Given the description of an element on the screen output the (x, y) to click on. 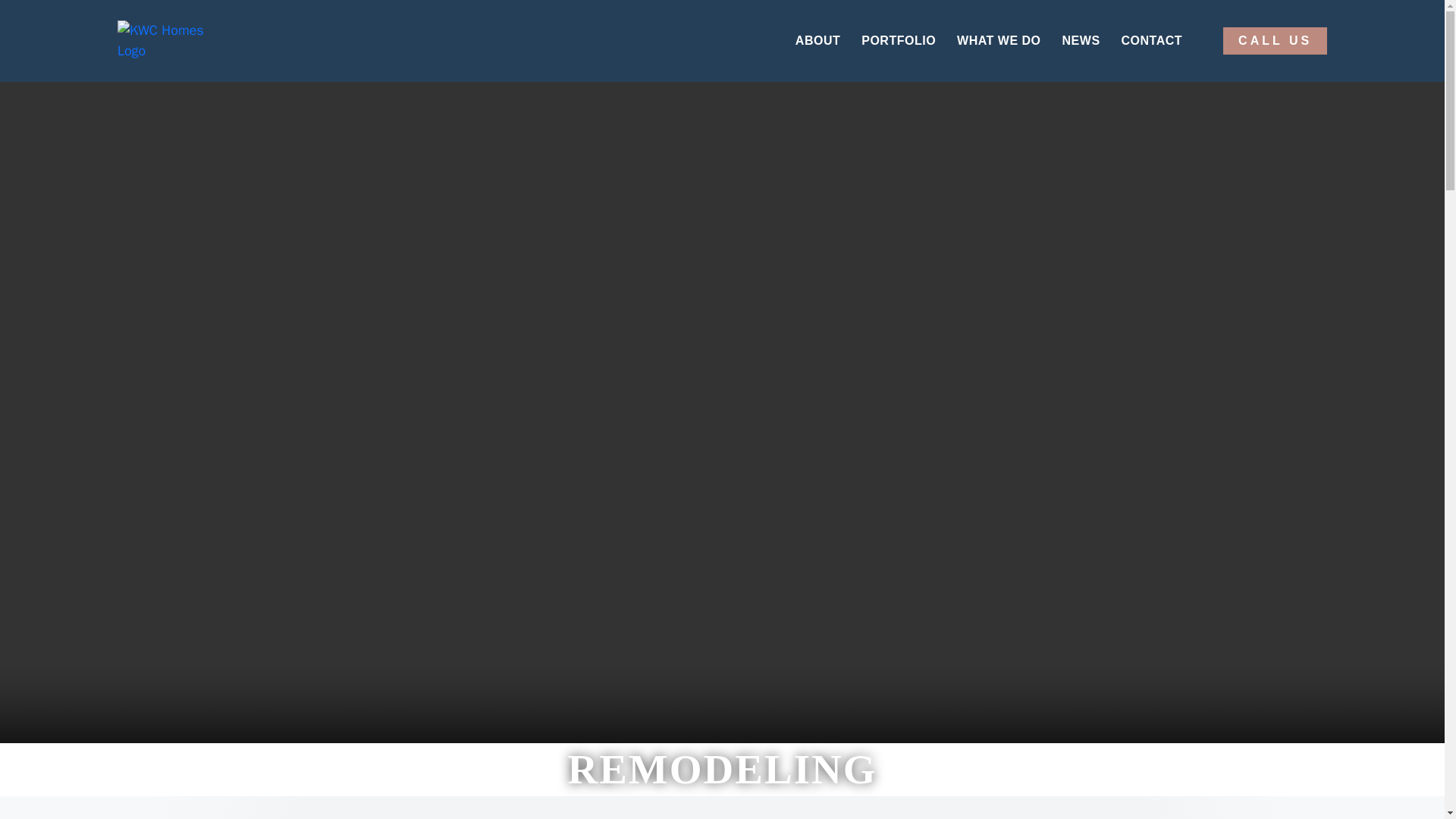
PORTFOLIO (898, 40)
WHAT WE DO (998, 40)
CALL US (1274, 40)
